Given the description of an element on the screen output the (x, y) to click on. 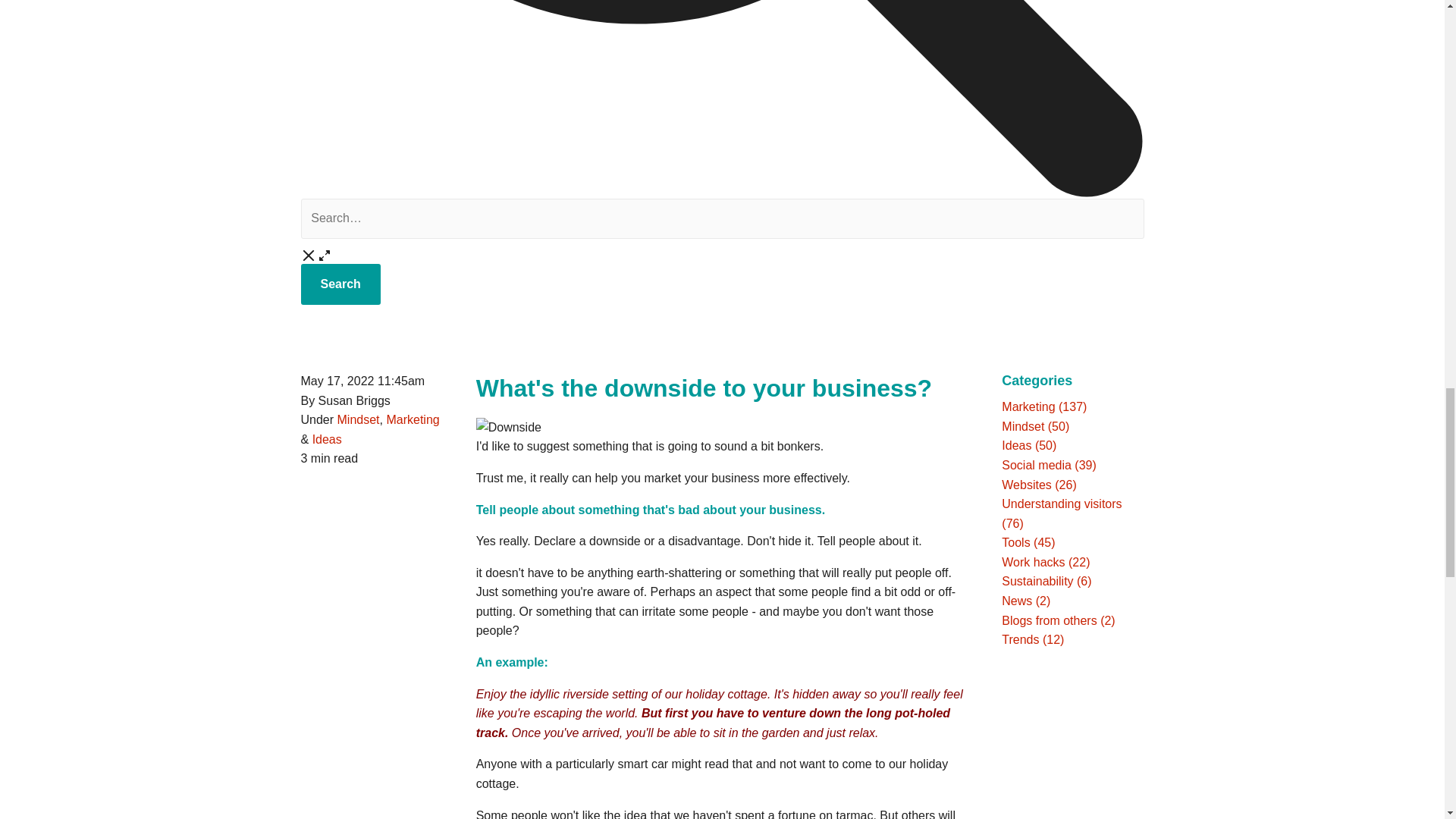
Marketing (412, 419)
Ideas (327, 439)
Search (339, 283)
Mindset (358, 419)
Search (339, 283)
